Given the description of an element on the screen output the (x, y) to click on. 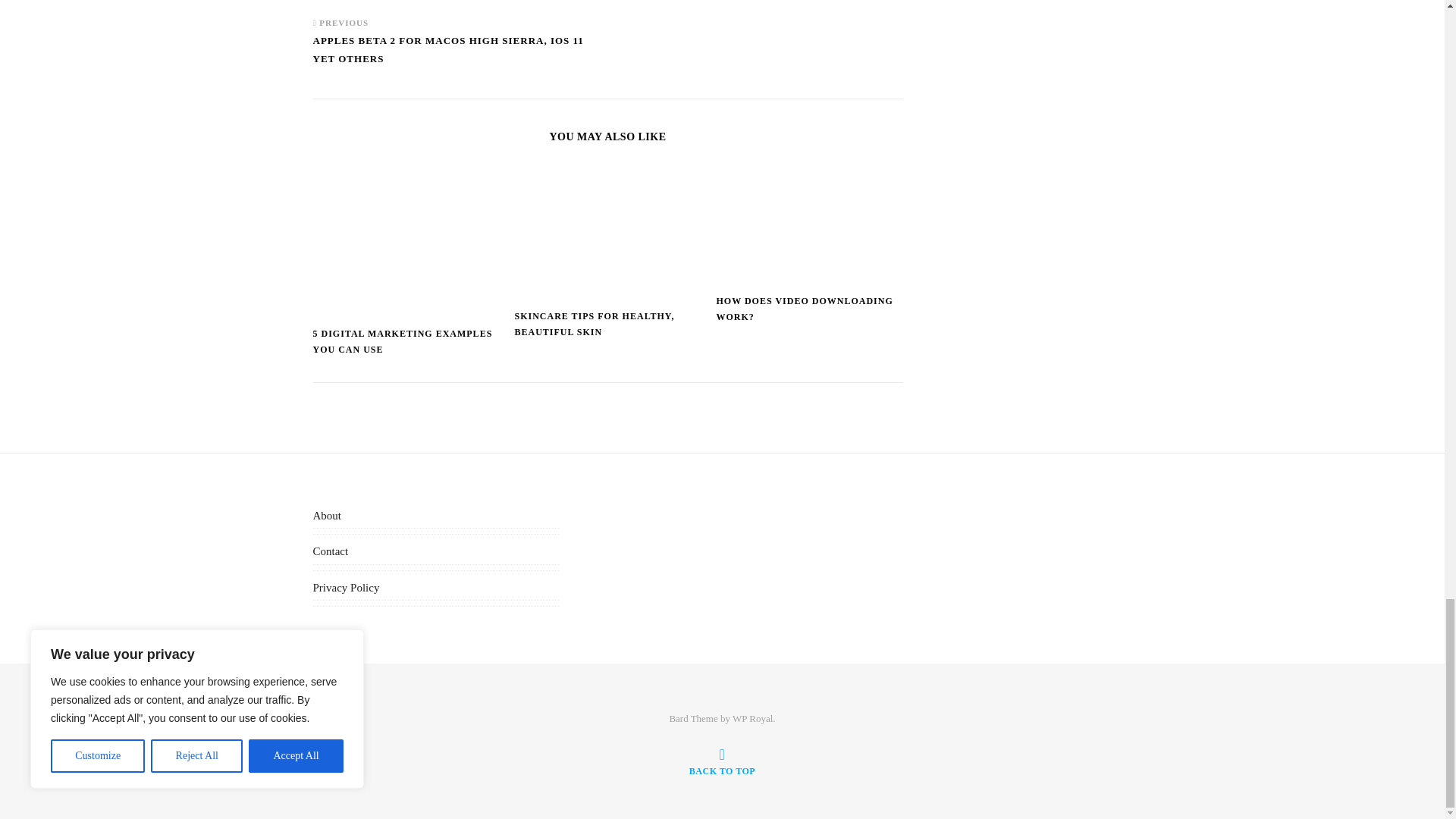
Apples Beta 2 For MacOS High Sierra, IOS 11 YET OTHERS (341, 2)
Apples Beta 2 For MacOS High Sierra, IOS 11 YET OTHERS (460, 56)
APPLES BETA 2 FOR MACOS HIGH SIERRA, IOS 11 YET OTHERS (460, 56)
Financial Advisor Interview (739, 3)
BACK TO TOP (722, 761)
